Given the description of an element on the screen output the (x, y) to click on. 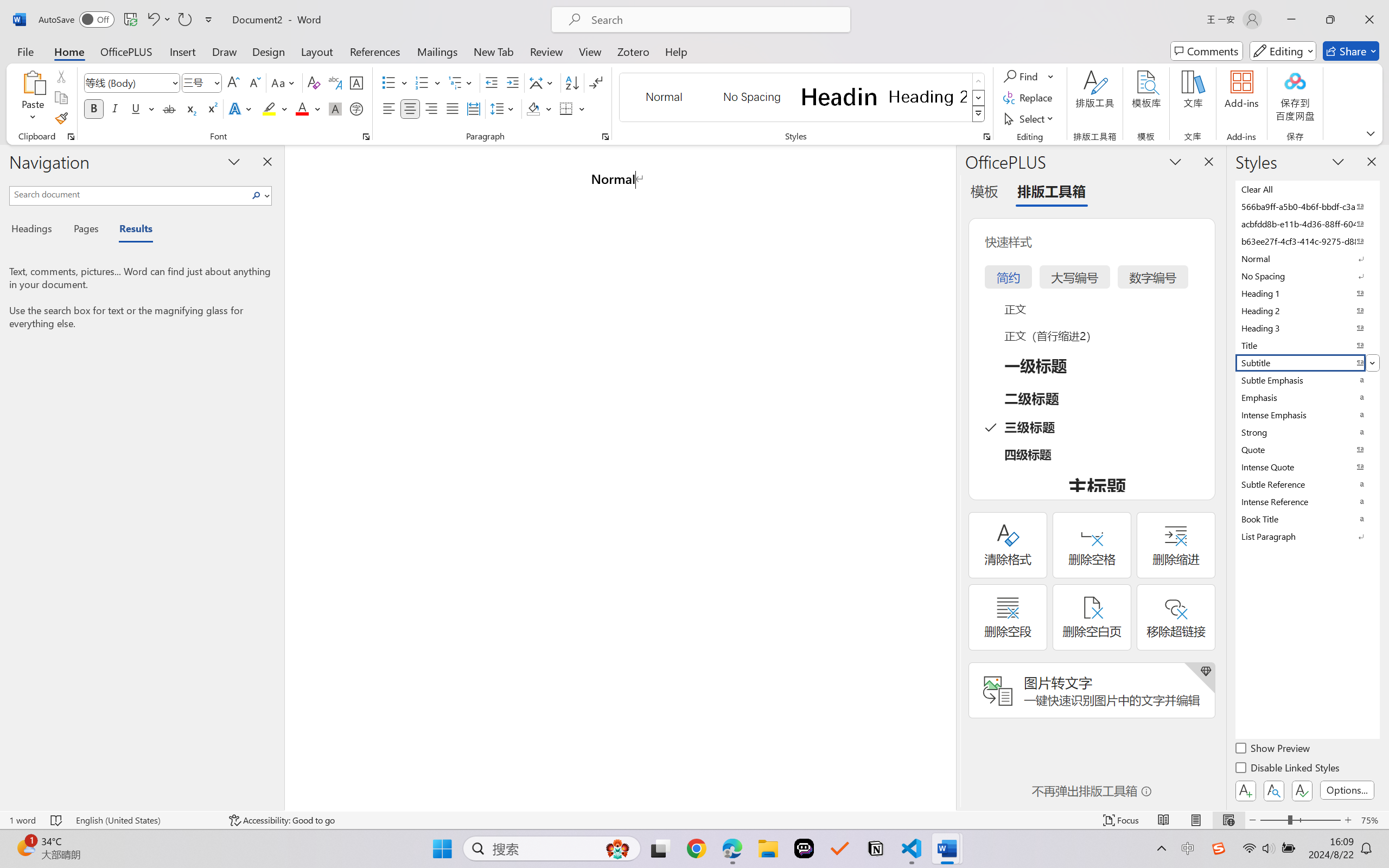
Class: MsoCommandBar (694, 819)
Bullets (388, 82)
Paste (33, 97)
Insert (182, 51)
Font (126, 82)
Center (409, 108)
Character Border (356, 82)
Help (675, 51)
Review (546, 51)
Zotero (632, 51)
Borders (566, 108)
Options... (1346, 789)
